Given the description of an element on the screen output the (x, y) to click on. 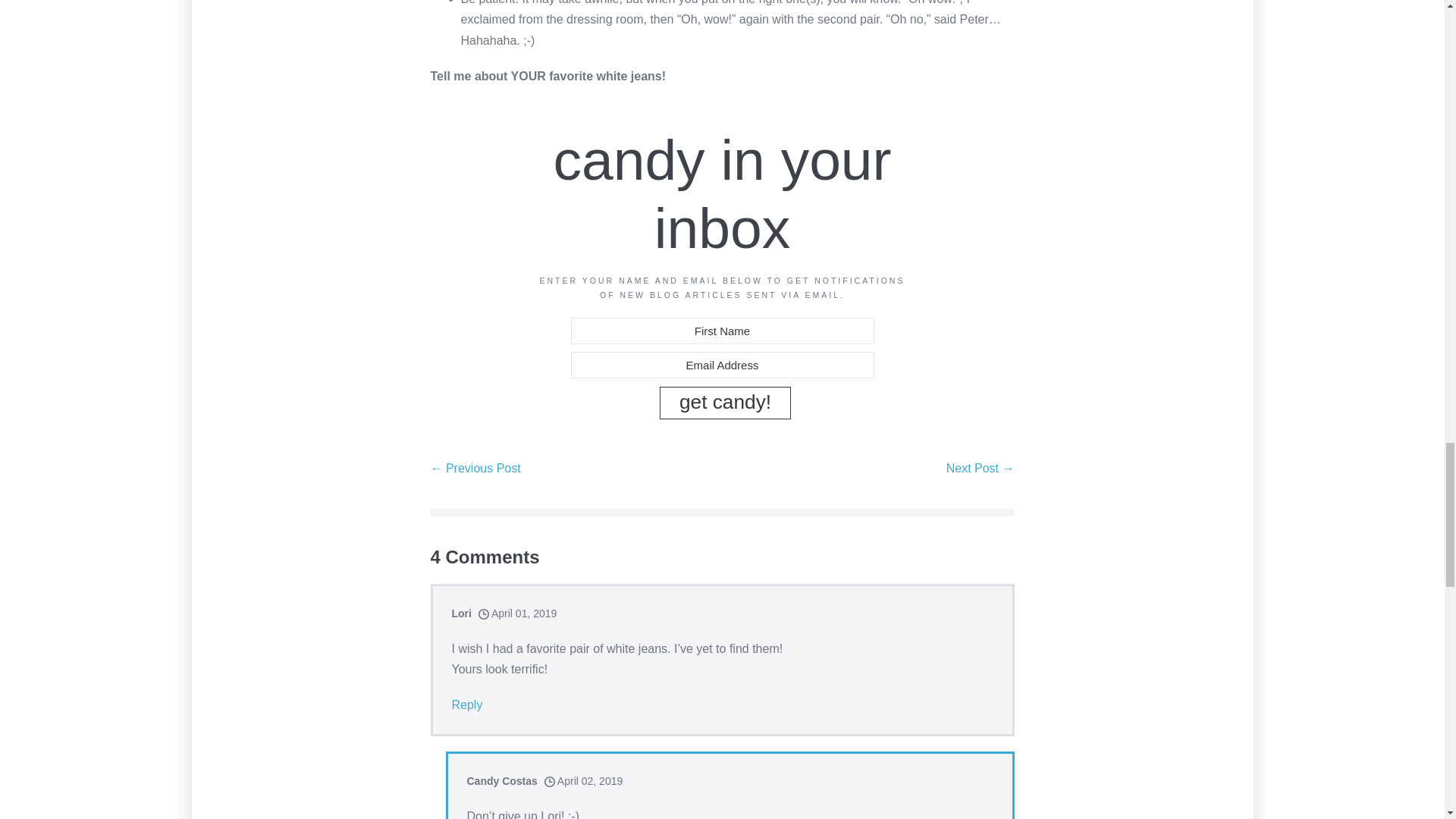
April 02, 2019 (583, 780)
Click Here (724, 402)
Reply (467, 704)
get candy! (724, 402)
April 01, 2019 (518, 613)
